Given the description of an element on the screen output the (x, y) to click on. 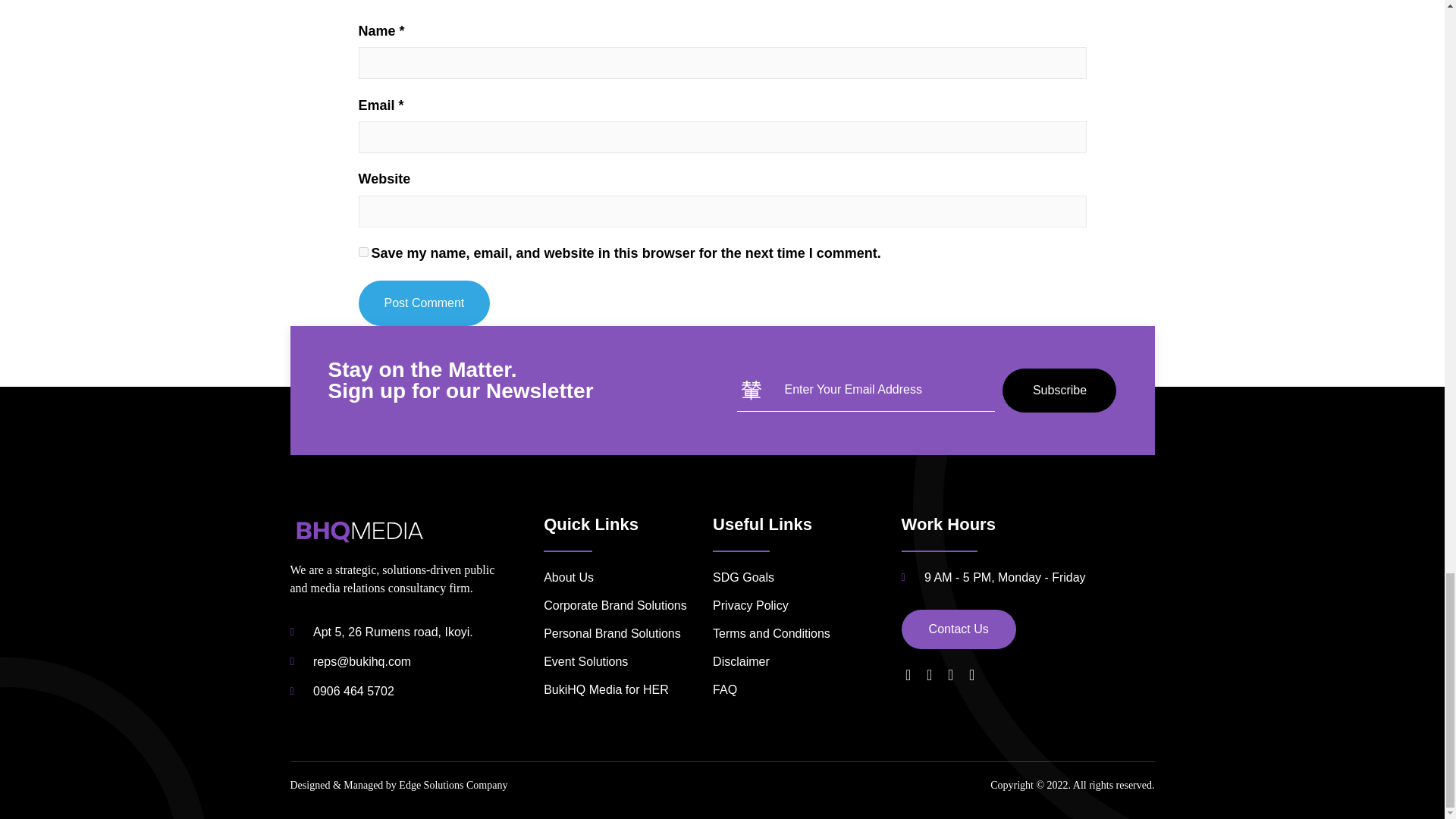
About Us (623, 577)
yes (363, 252)
FAQ (807, 689)
Subscribe (1059, 390)
Contact Us (958, 629)
SDG Goals (807, 577)
BukiHQ Media for HER (623, 689)
Privacy Policy (807, 606)
Personal Brand Solutions (623, 633)
Event Solutions (623, 661)
